Given the description of an element on the screen output the (x, y) to click on. 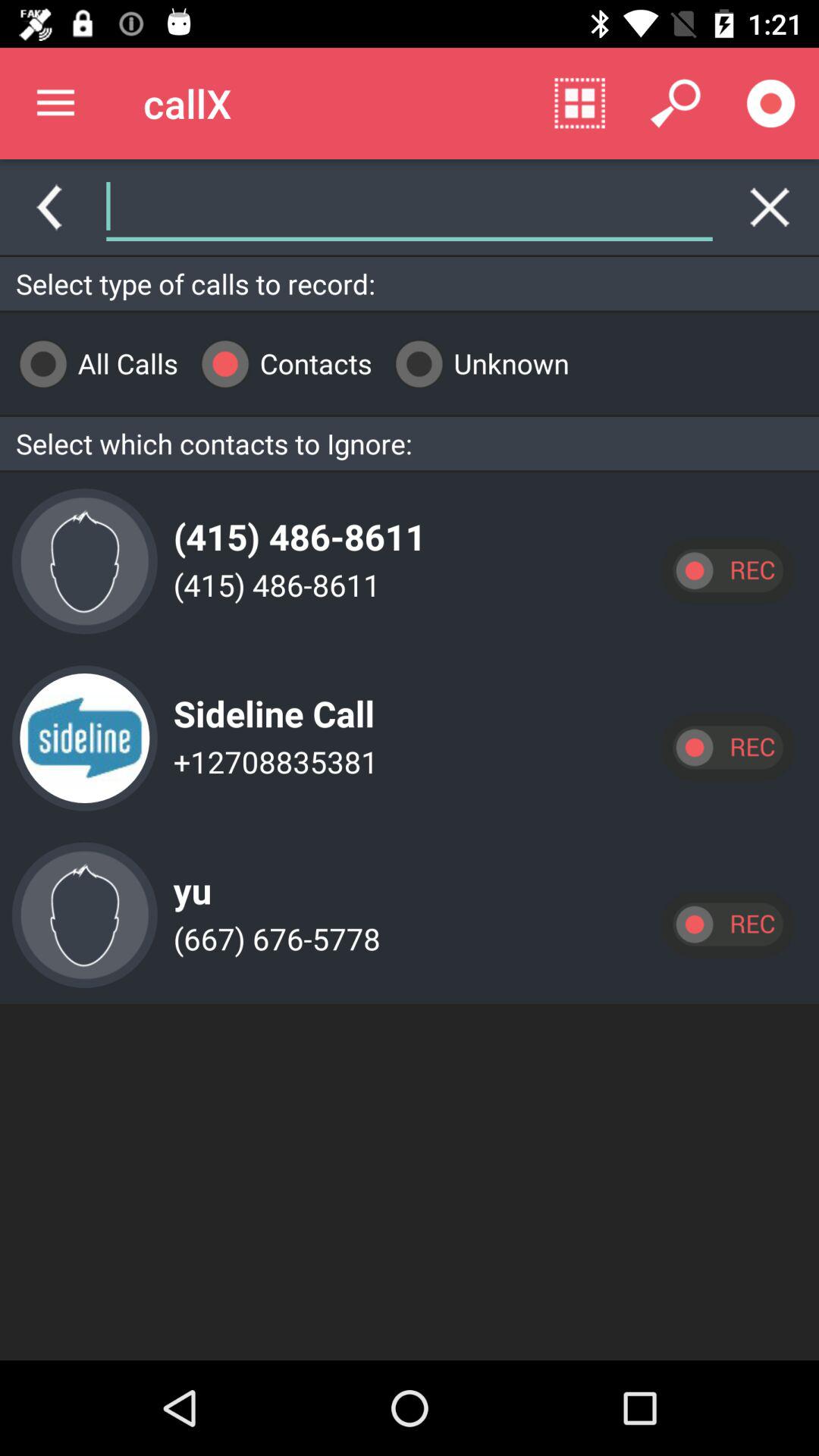
close page (769, 206)
